Given the description of an element on the screen output the (x, y) to click on. 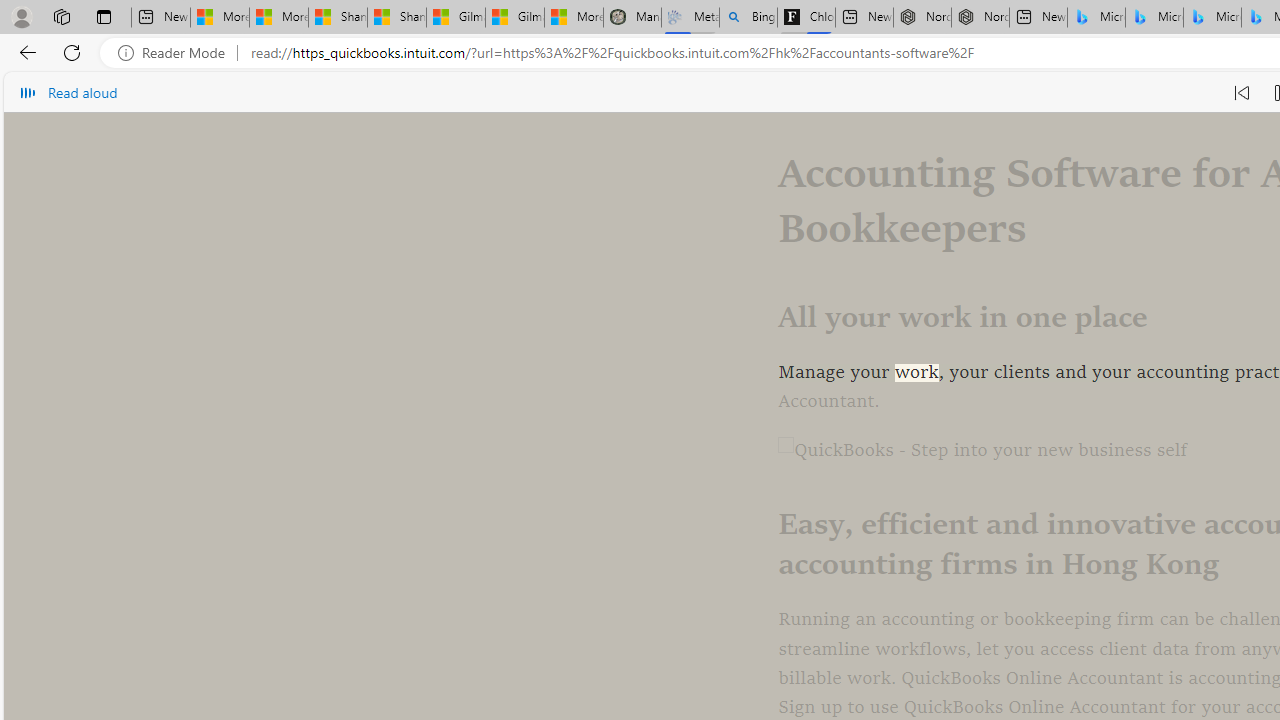
Read previous paragraph (1242, 92)
